Given the description of an element on the screen output the (x, y) to click on. 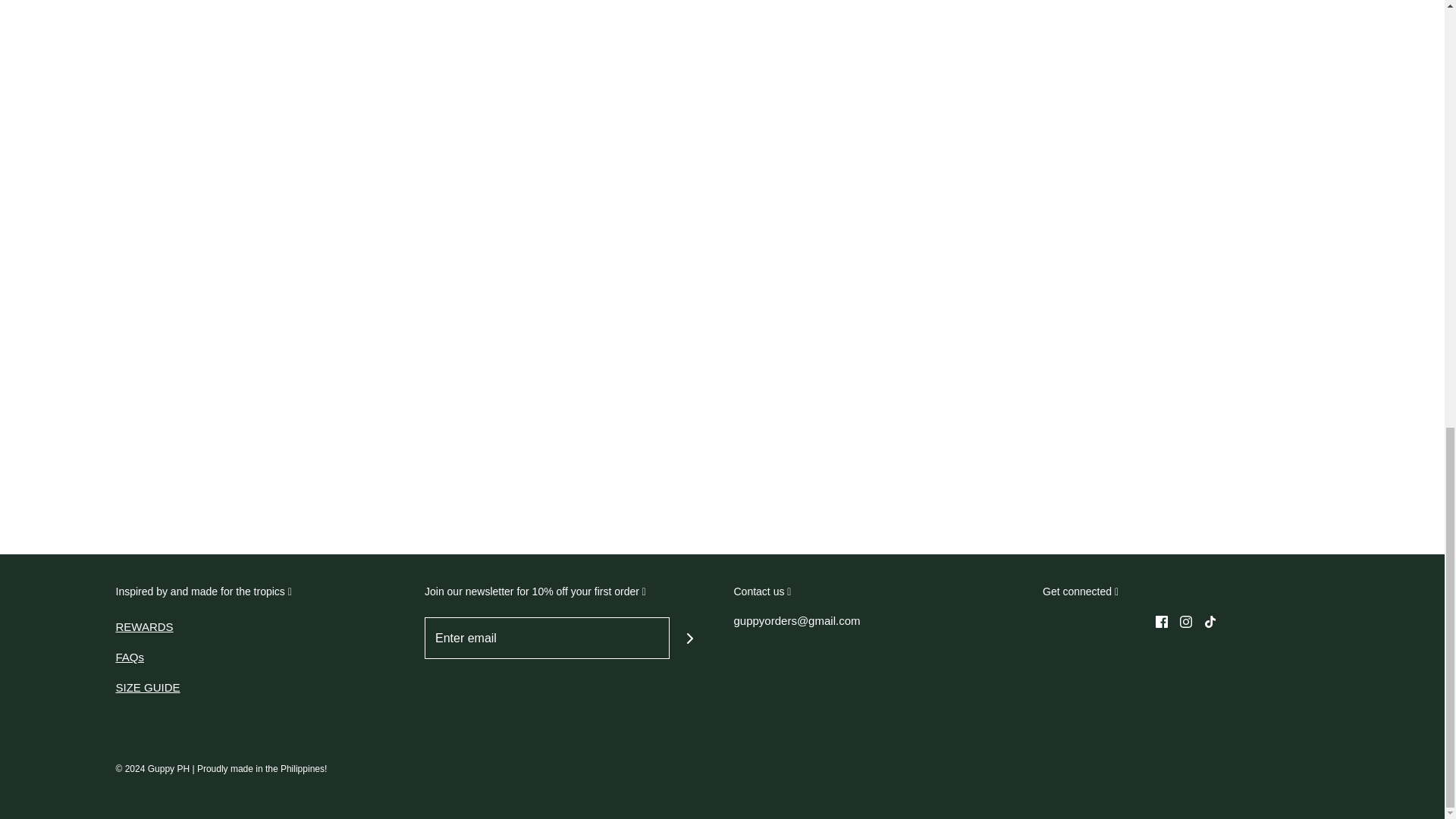
TikTok icon (1209, 621)
Size Guide (147, 686)
Guppy Club Rewards Program (144, 626)
Facebook icon (1161, 621)
Instagram icon (1185, 621)
FAQs (129, 656)
